Given the description of an element on the screen output the (x, y) to click on. 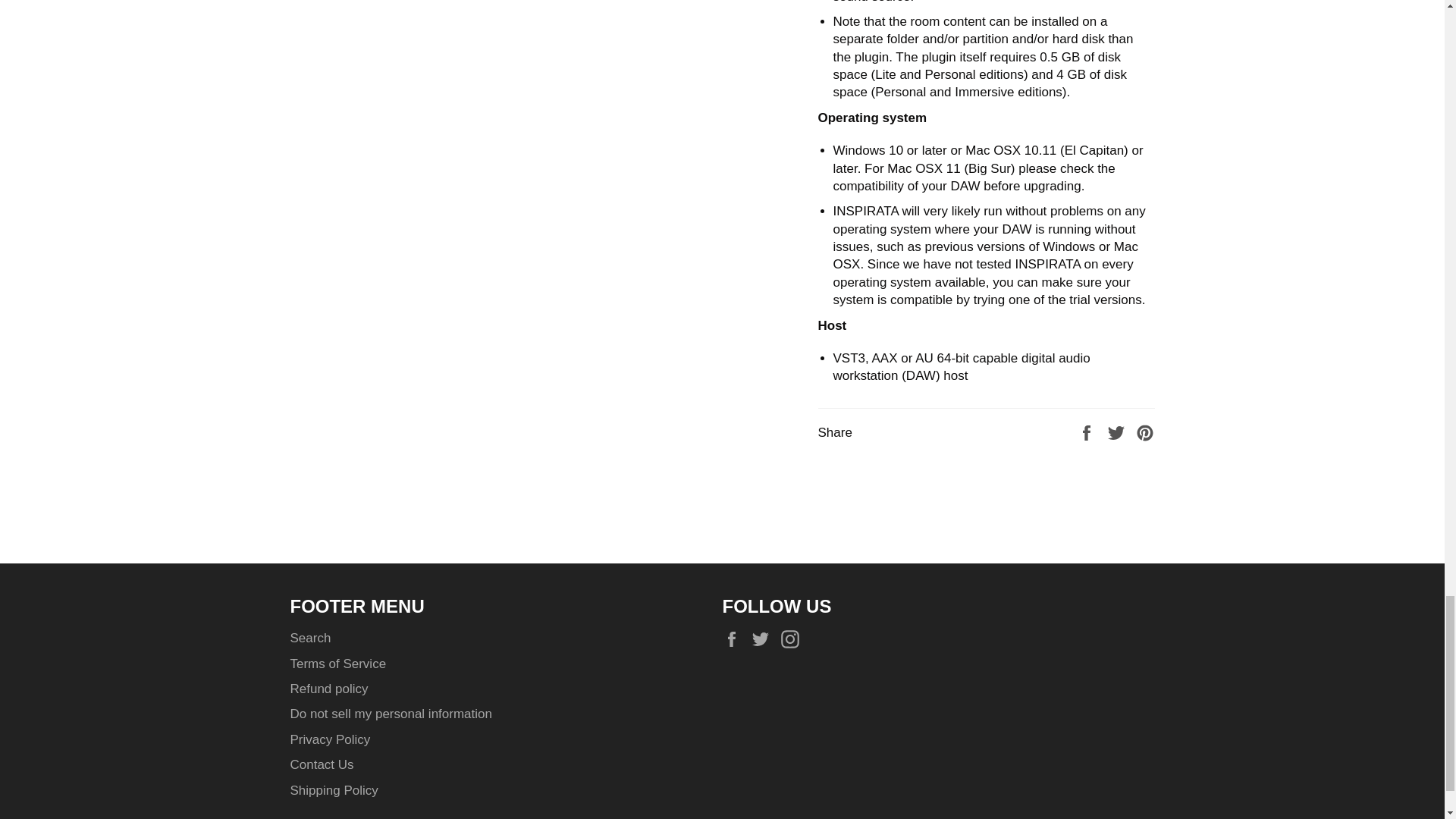
Pin on Pinterest (1144, 432)
pluginscanada.com on Facebook (735, 638)
pluginscanada.com on Twitter (764, 638)
pluginscanada.com on Instagram (793, 638)
Tweet on Twitter (1117, 432)
Share on Facebook (1088, 432)
